Given the description of an element on the screen output the (x, y) to click on. 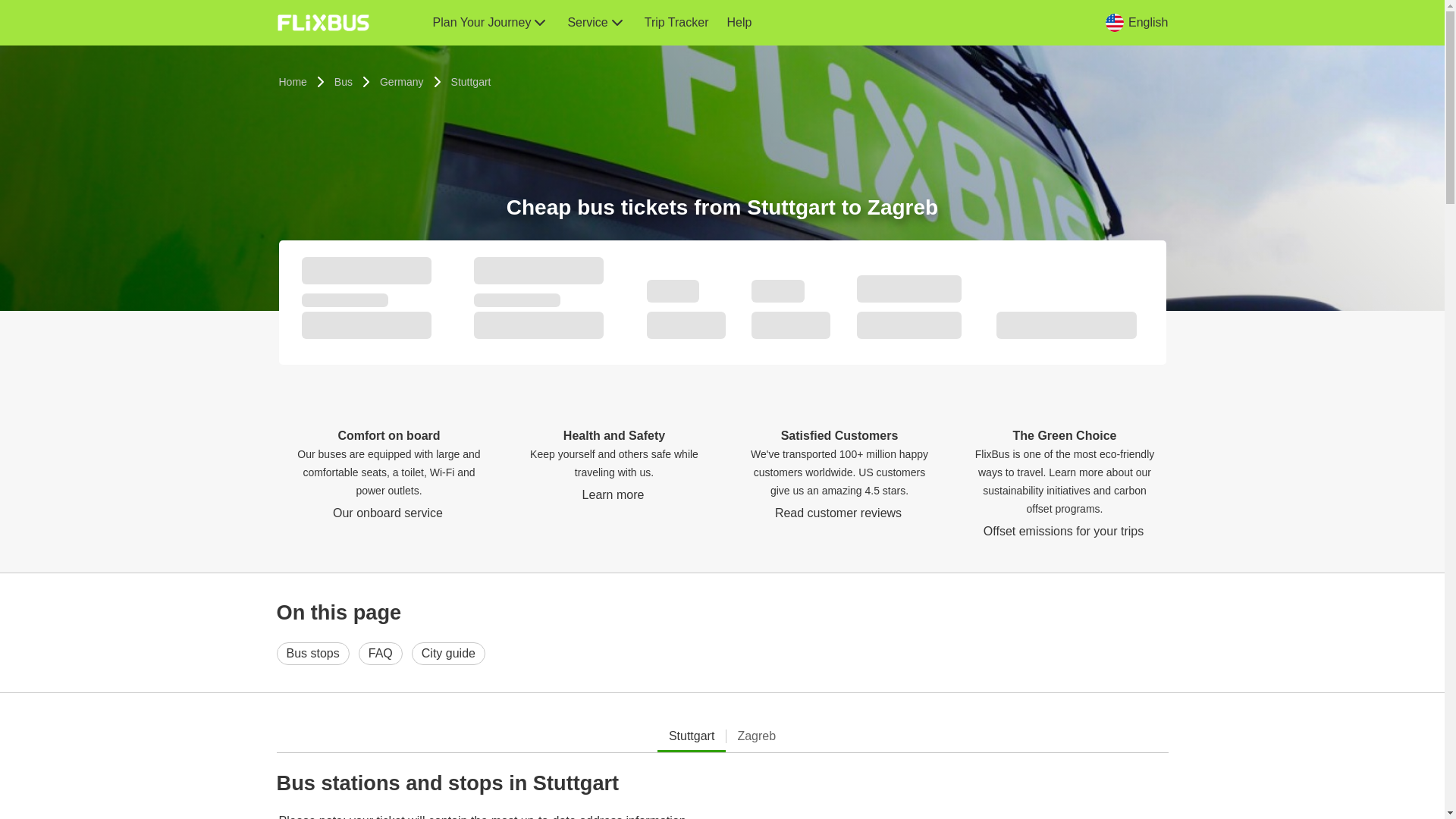
Stuttgart (470, 81)
Stuttgart (691, 735)
Home (292, 81)
Bus (343, 81)
Germany (401, 81)
Trip Tracker (675, 22)
Read customer reviews (839, 513)
Home (292, 81)
Help (738, 22)
Bus stops (312, 653)
